Given the description of an element on the screen output the (x, y) to click on. 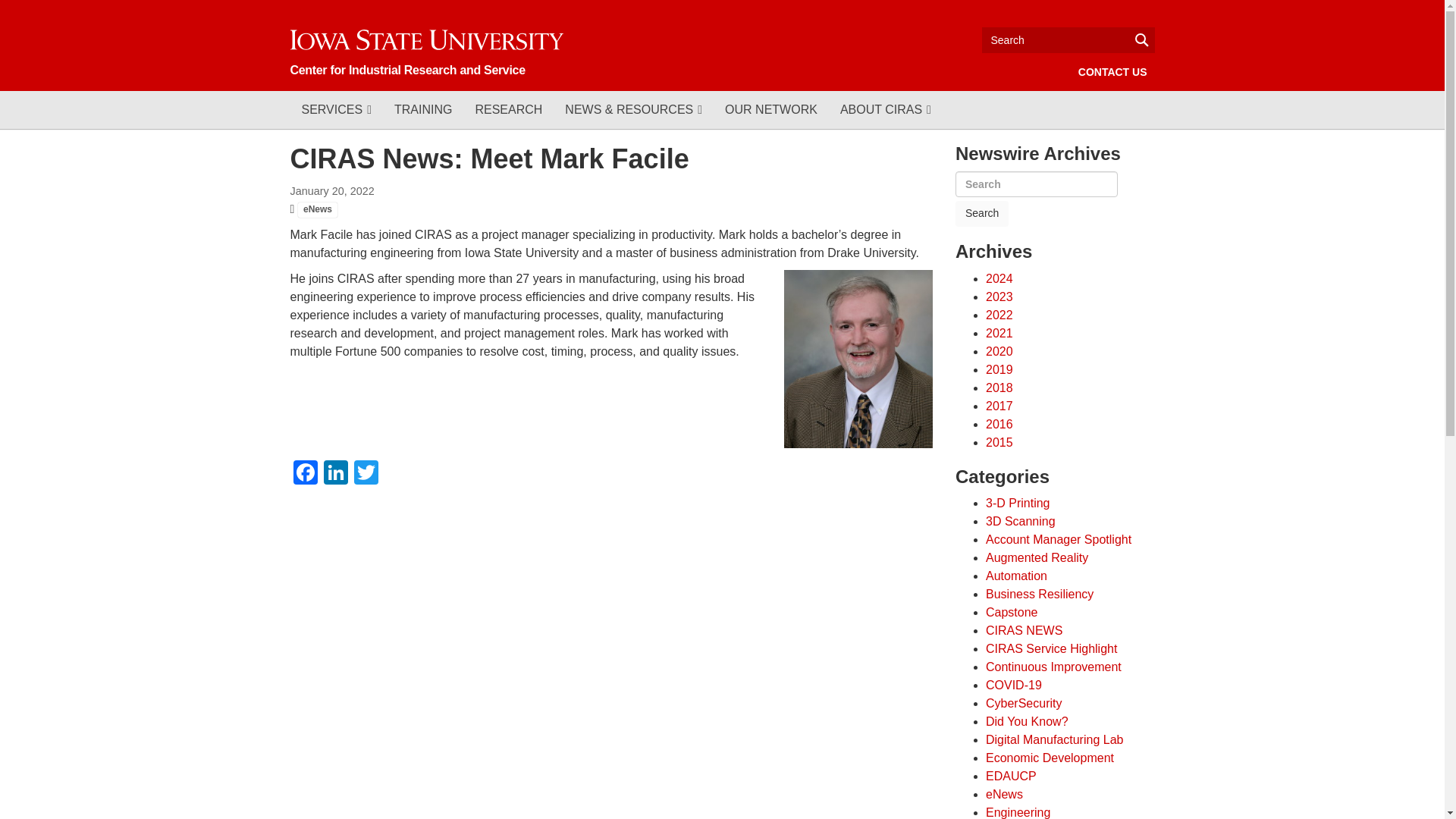
LinkedIn (335, 474)
RESEARCH (508, 109)
Posted On January 20, 2022 3:02 pm (331, 190)
Twitter (365, 474)
CONTACT US (1112, 71)
Search (982, 213)
Search (1067, 40)
TRAINING (422, 109)
Search (982, 213)
